Given the description of an element on the screen output the (x, y) to click on. 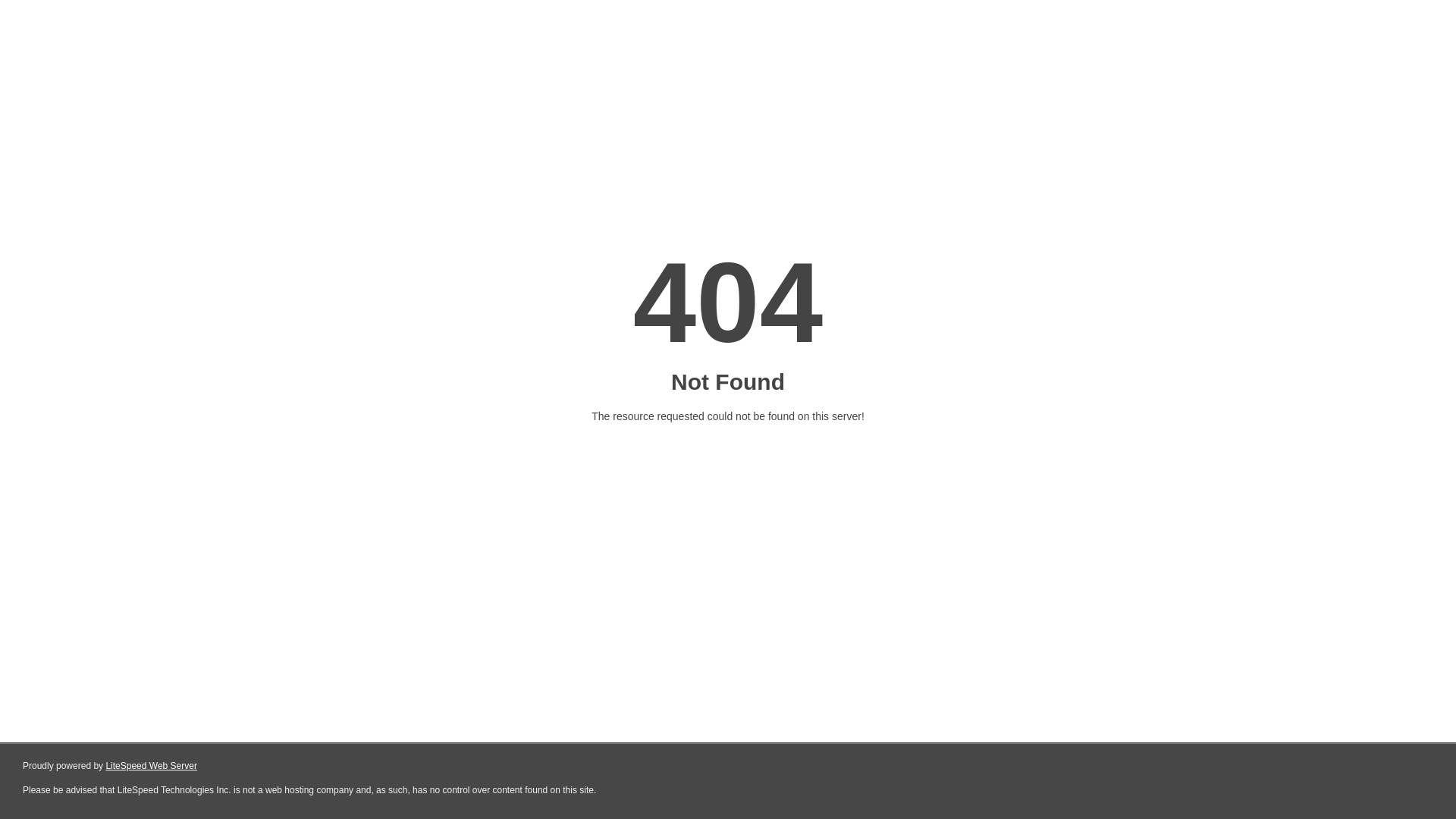
LiteSpeed Web Server Element type: text (151, 765)
